Given the description of an element on the screen output the (x, y) to click on. 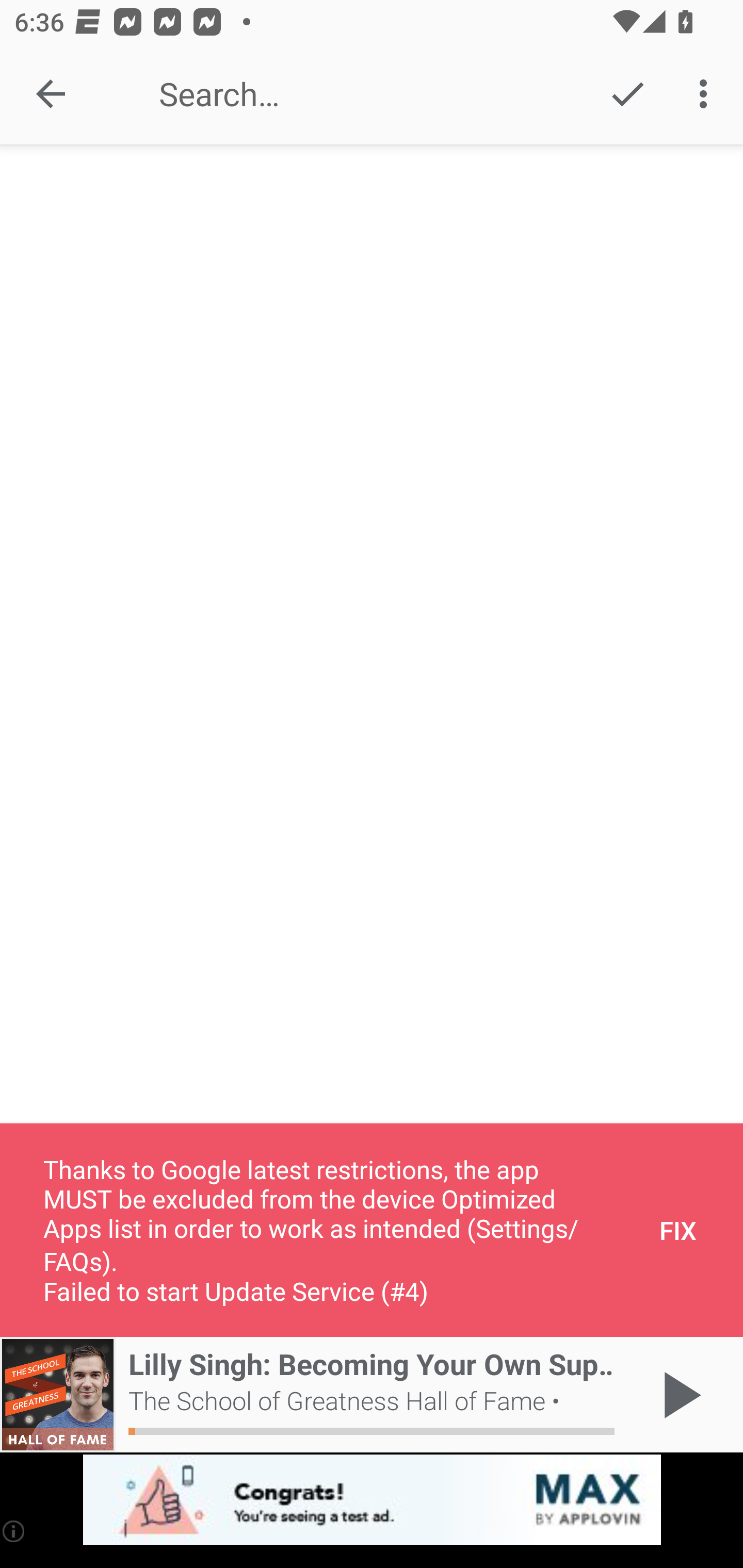
Collapse (50, 93)
Action Mode (626, 93)
More options (706, 93)
Search… (356, 94)
FIX (677, 1229)
Play / Pause (677, 1394)
app-monetization (371, 1500)
(i) (14, 1531)
